Given the description of an element on the screen output the (x, y) to click on. 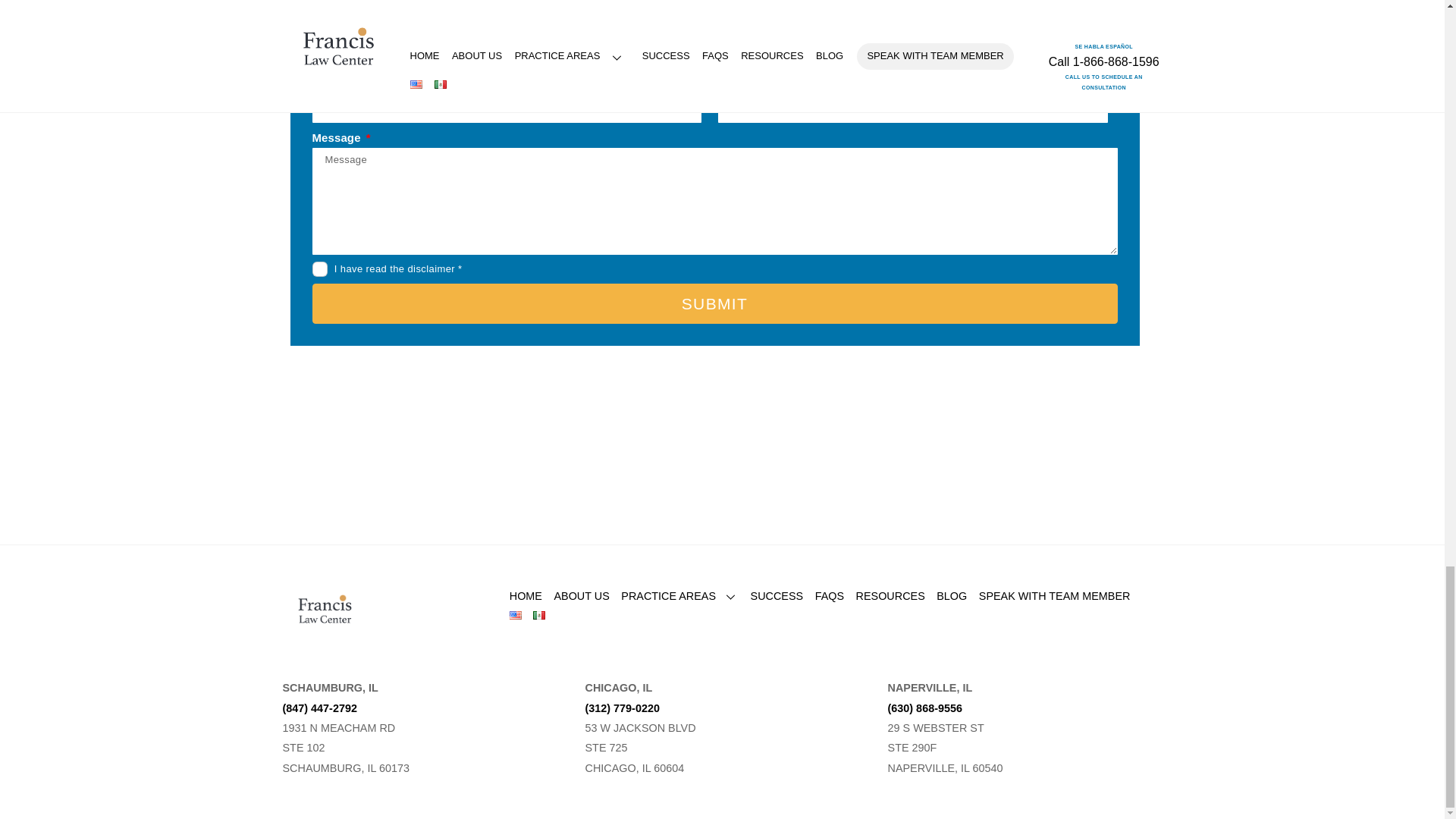
SUCCESS (777, 594)
Chicago Immigration Lawyer (324, 628)
HOME (525, 594)
Front 2022 (324, 609)
ABOUT US (580, 594)
PRACTICE AREAS (679, 594)
SUBMIT (715, 303)
